Given the description of an element on the screen output the (x, y) to click on. 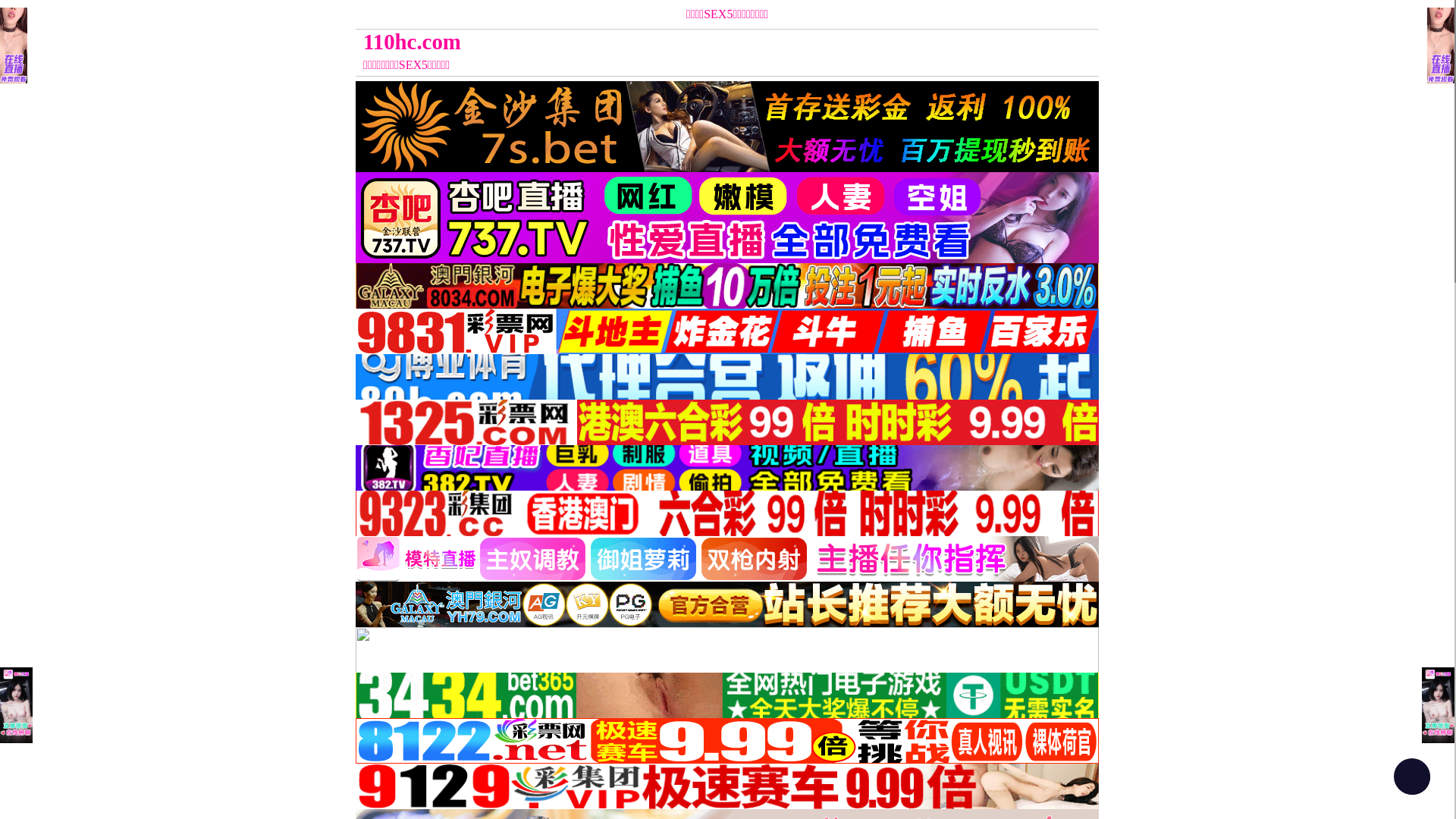
110hc.com Element type: text (634, 41)
